Given the description of an element on the screen output the (x, y) to click on. 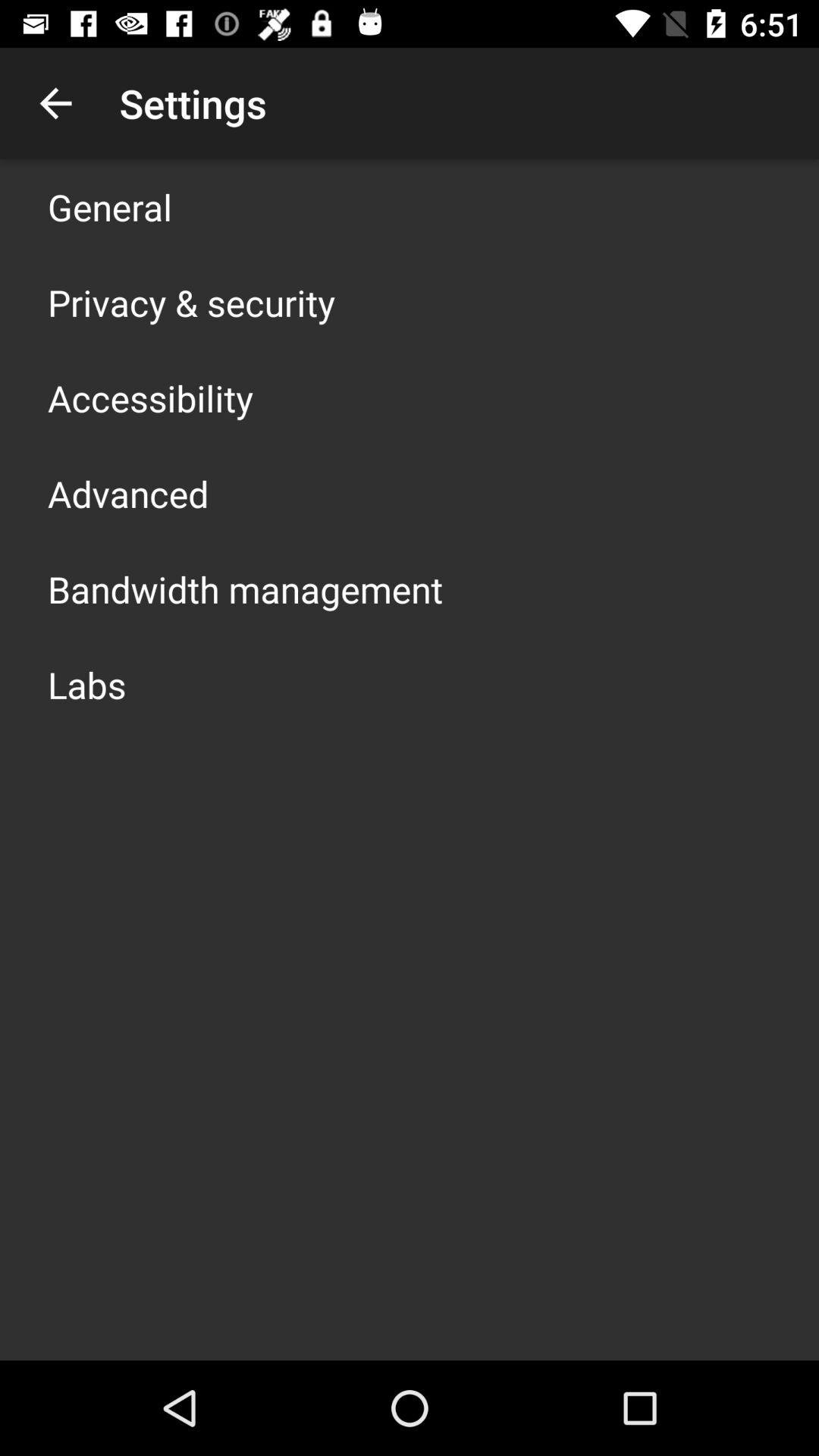
press the app above labs icon (245, 588)
